Given the description of an element on the screen output the (x, y) to click on. 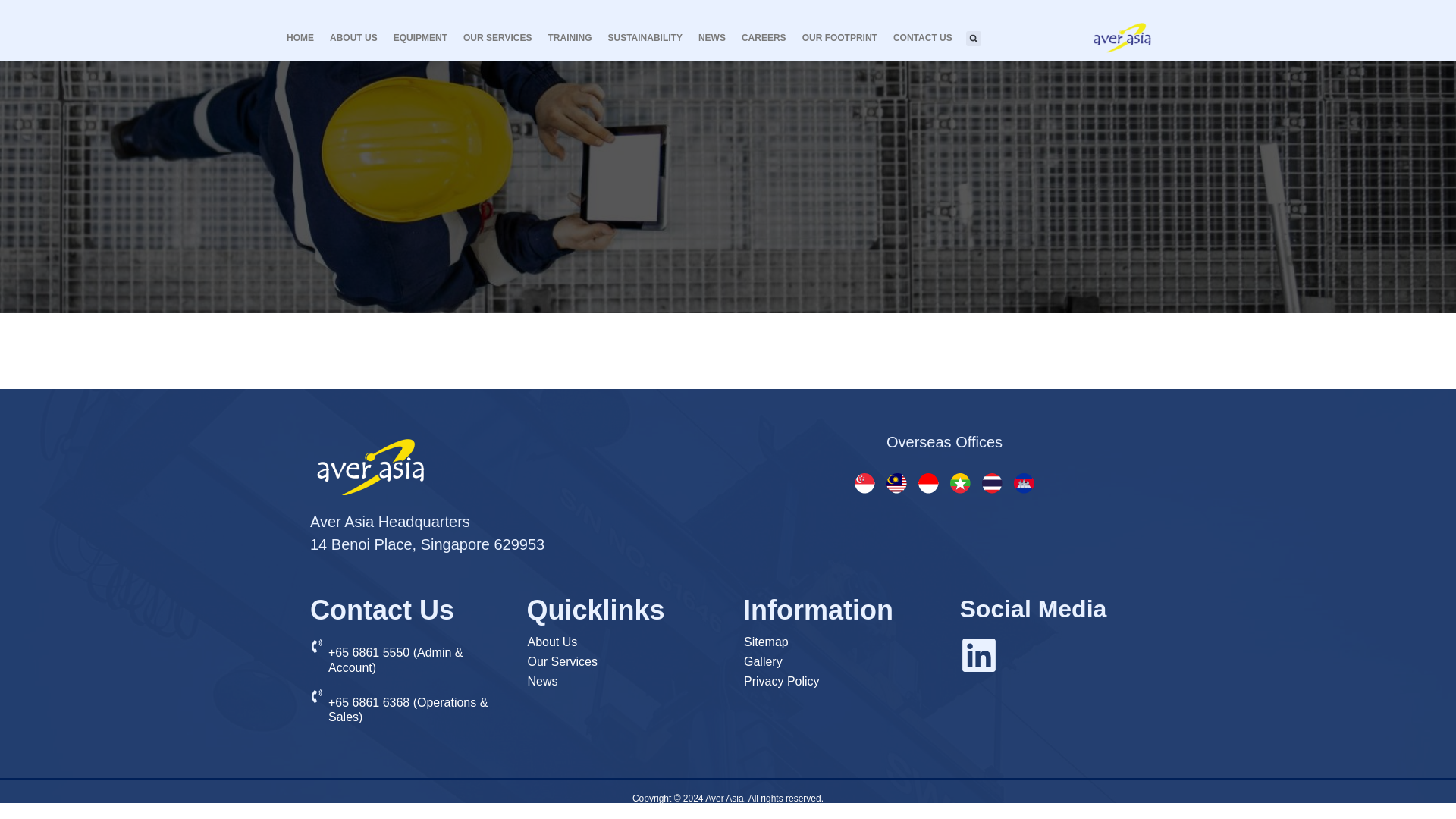
TRAINING (568, 37)
EQUIPMENT (419, 37)
CONTACT US (922, 37)
OUR FOOTPRINT (839, 37)
CAREERS (763, 37)
SUSTAINABILITY (644, 37)
OUR SERVICES (497, 37)
NEWS (712, 37)
ABOUT US (353, 37)
HOME (300, 37)
